Given the description of an element on the screen output the (x, y) to click on. 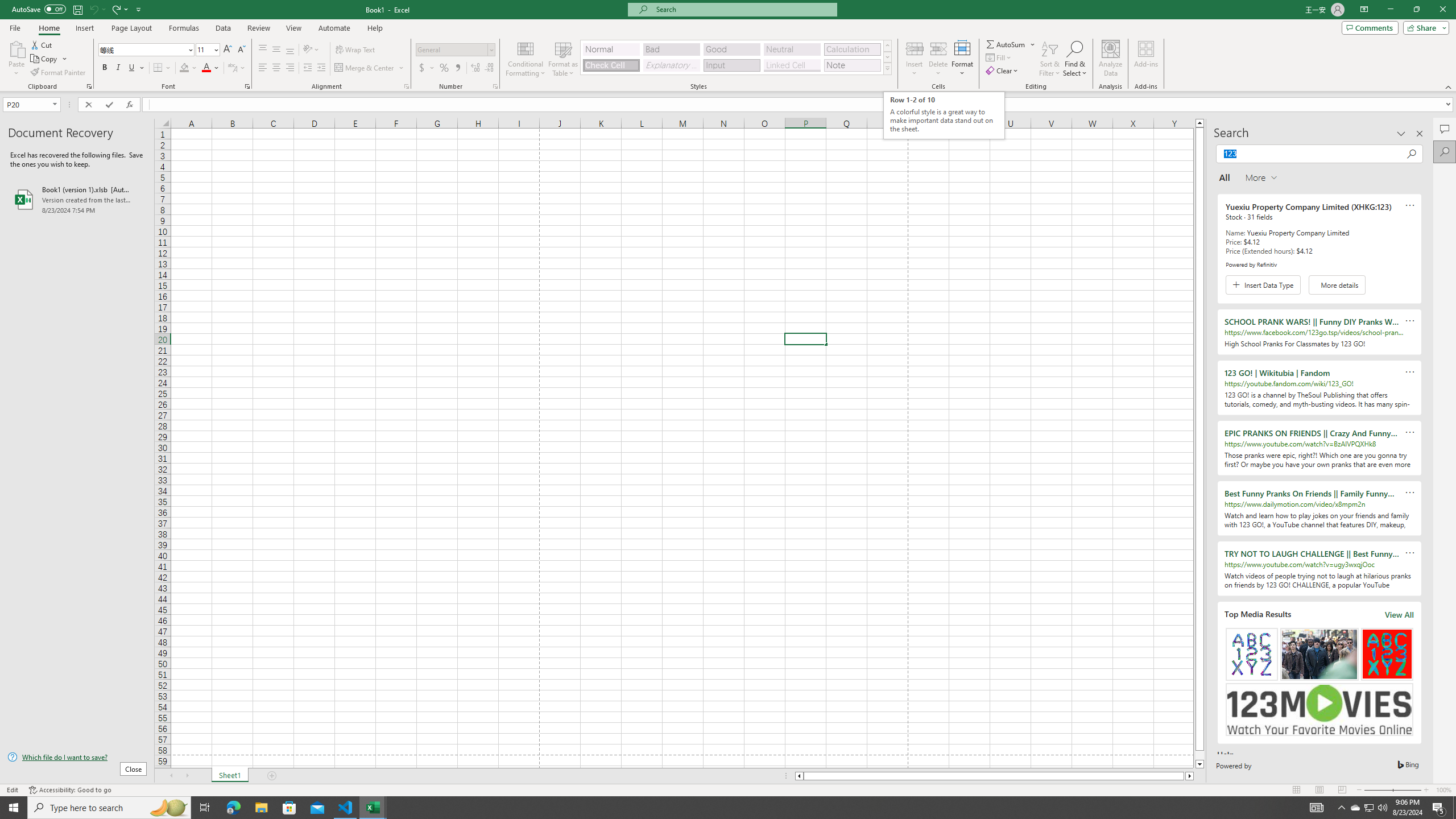
Orientation (311, 49)
Insert Cells (914, 48)
Font Size (204, 49)
Sum (1006, 44)
Fill Color RGB(255, 255, 0) (183, 67)
Bad (671, 49)
Neutral (791, 49)
Font Color RGB(255, 0, 0) (206, 67)
Note (852, 65)
